Given the description of an element on the screen output the (x, y) to click on. 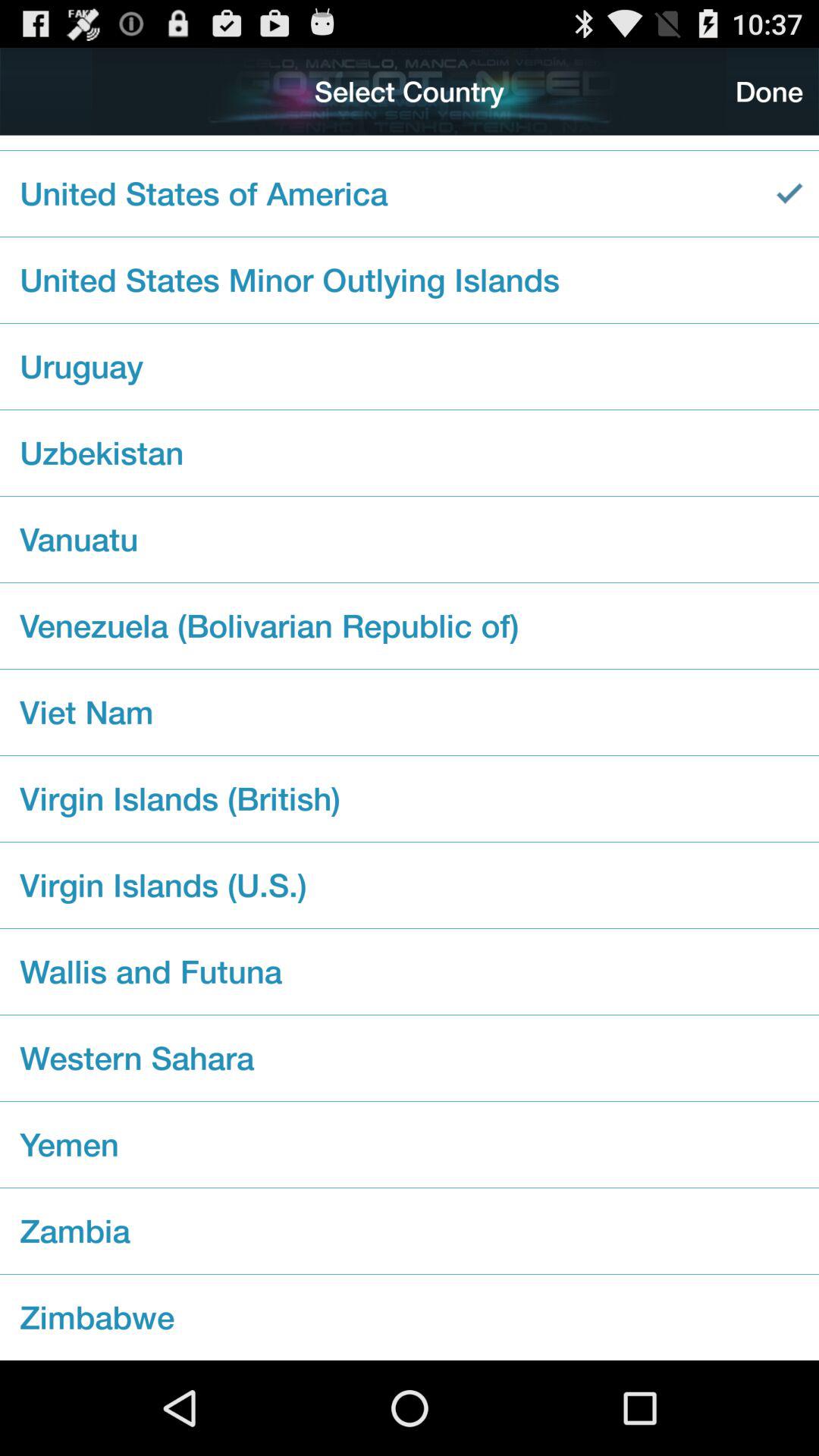
turn on the checkbox below western sahara icon (409, 1144)
